Given the description of an element on the screen output the (x, y) to click on. 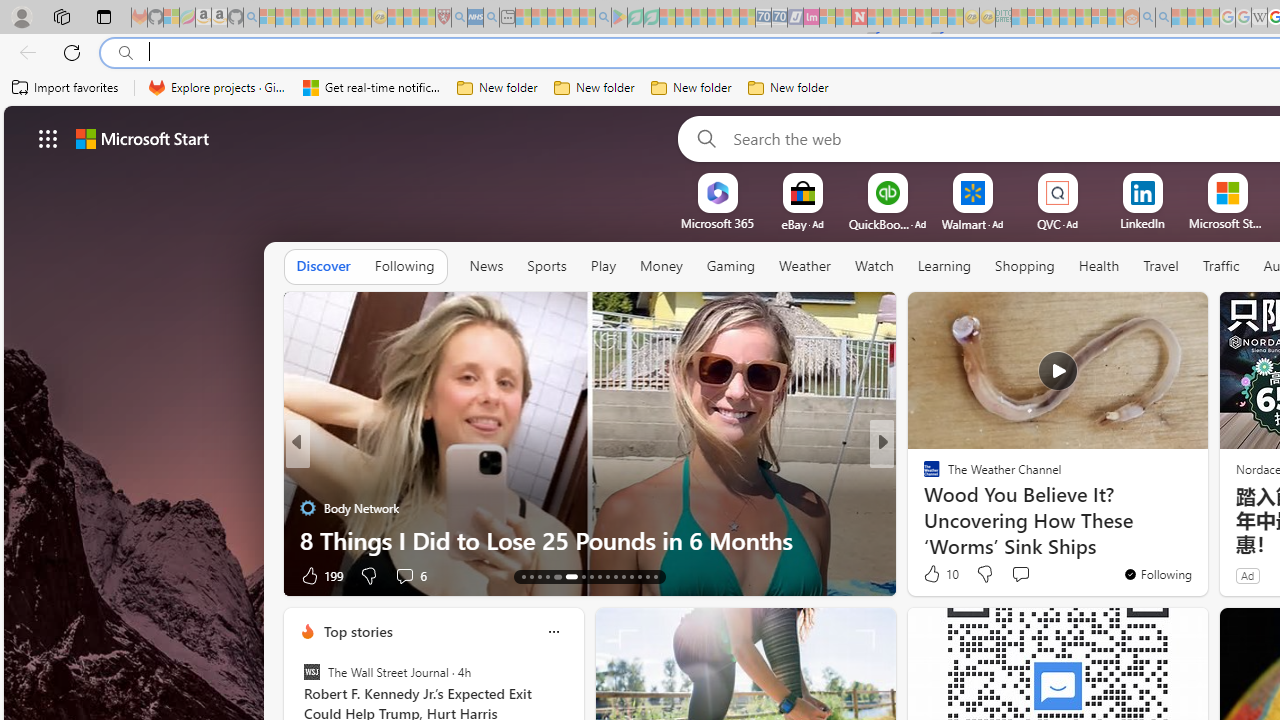
AutomationID: tab-21 (599, 576)
199 Like (320, 574)
Play (602, 265)
What If (923, 507)
TechRadar (923, 475)
